Given the description of an element on the screen output the (x, y) to click on. 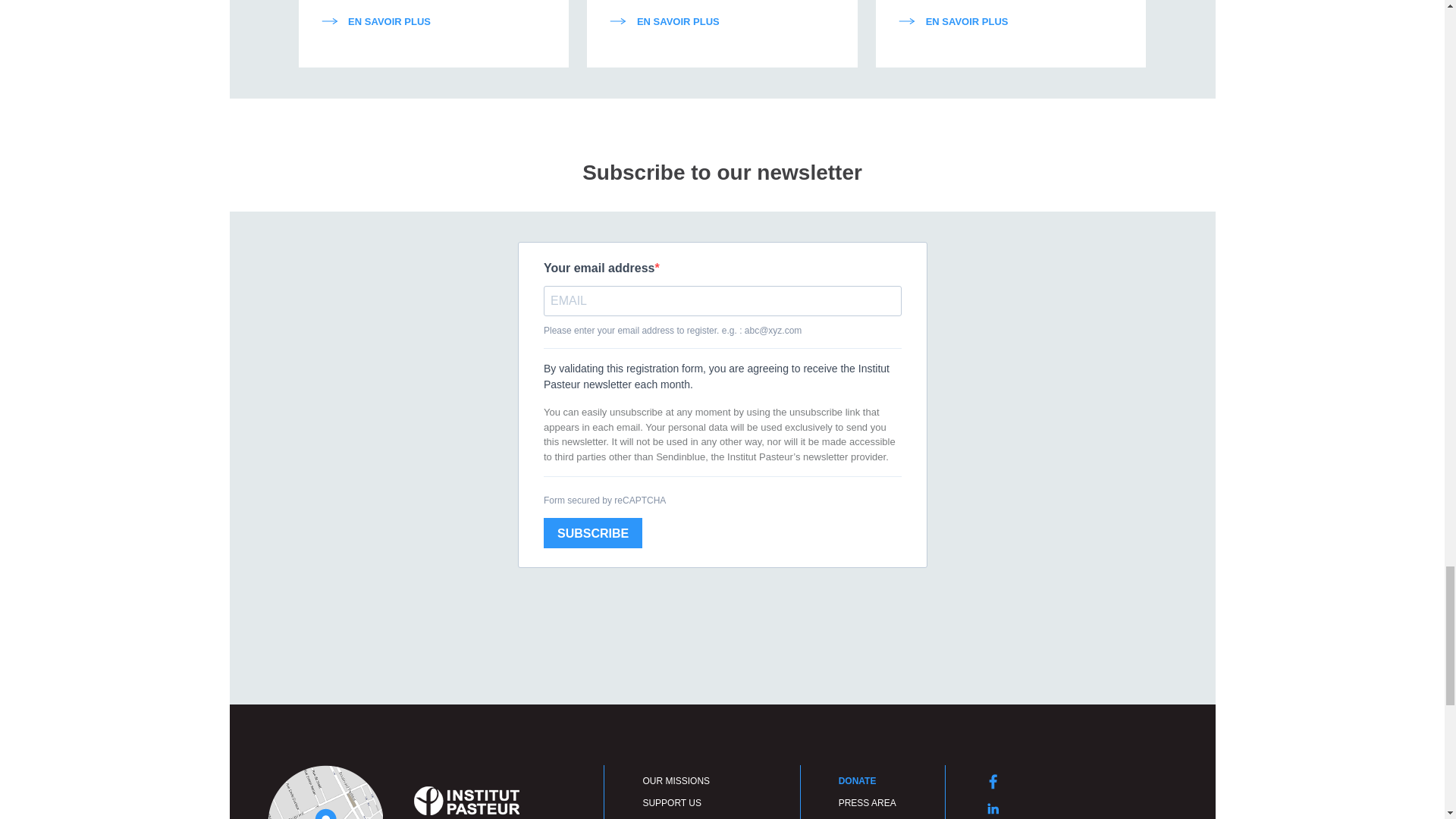
Institut Pasteur (465, 799)
